Given the description of an element on the screen output the (x, y) to click on. 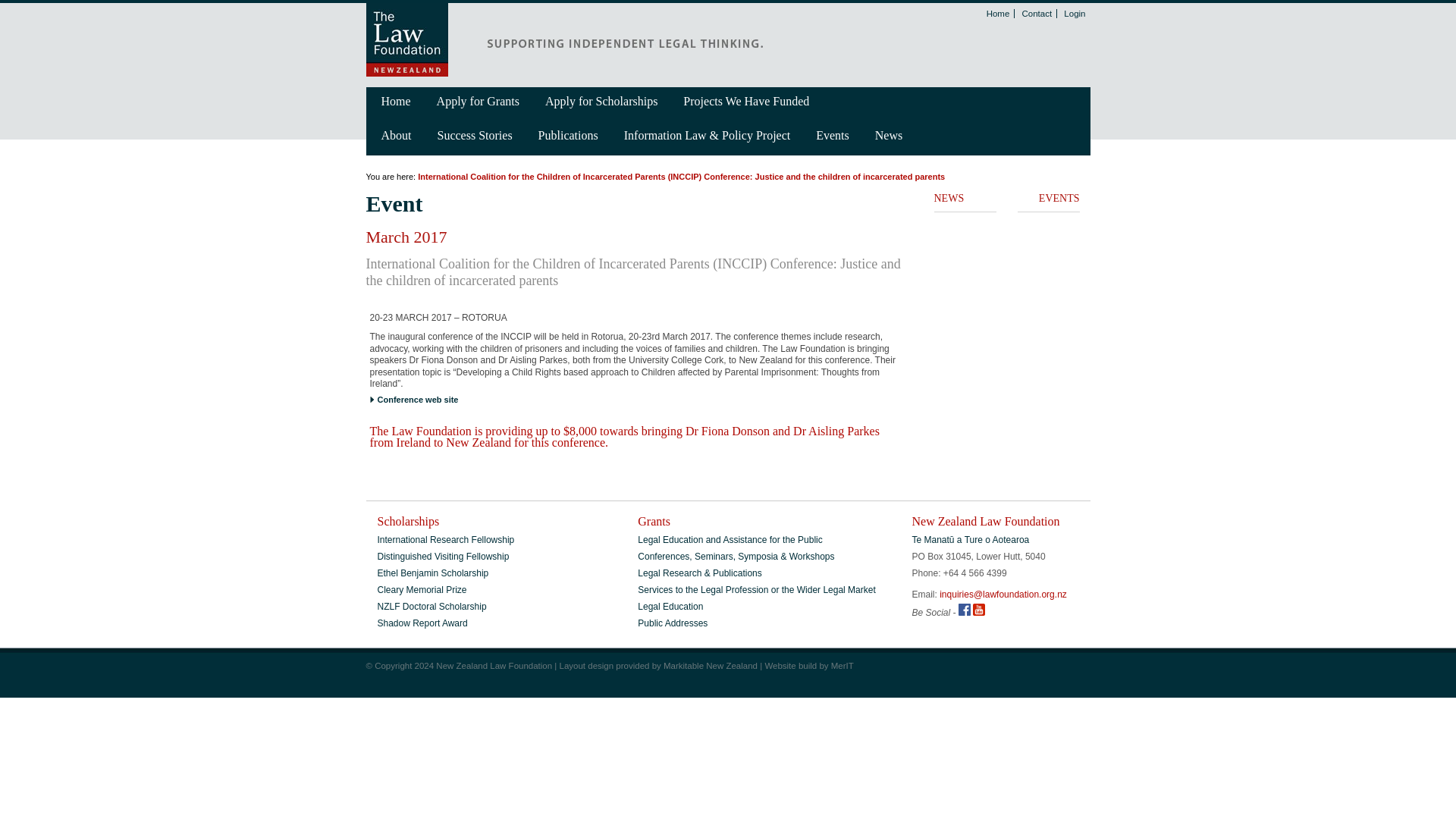
Grants (653, 519)
Publications (568, 137)
About (396, 137)
International Research Fellowship (446, 538)
Public Addresses (672, 621)
NZLF Doctoral Scholarship (431, 604)
Apply for Scholarships (601, 102)
Login (1074, 13)
News (888, 137)
Distinguished Visiting Fellowship (443, 554)
Home (395, 102)
Success Stories (475, 137)
Cleary Memorial Prize (422, 588)
Contact (1037, 13)
Scholarships (408, 519)
